Given the description of an element on the screen output the (x, y) to click on. 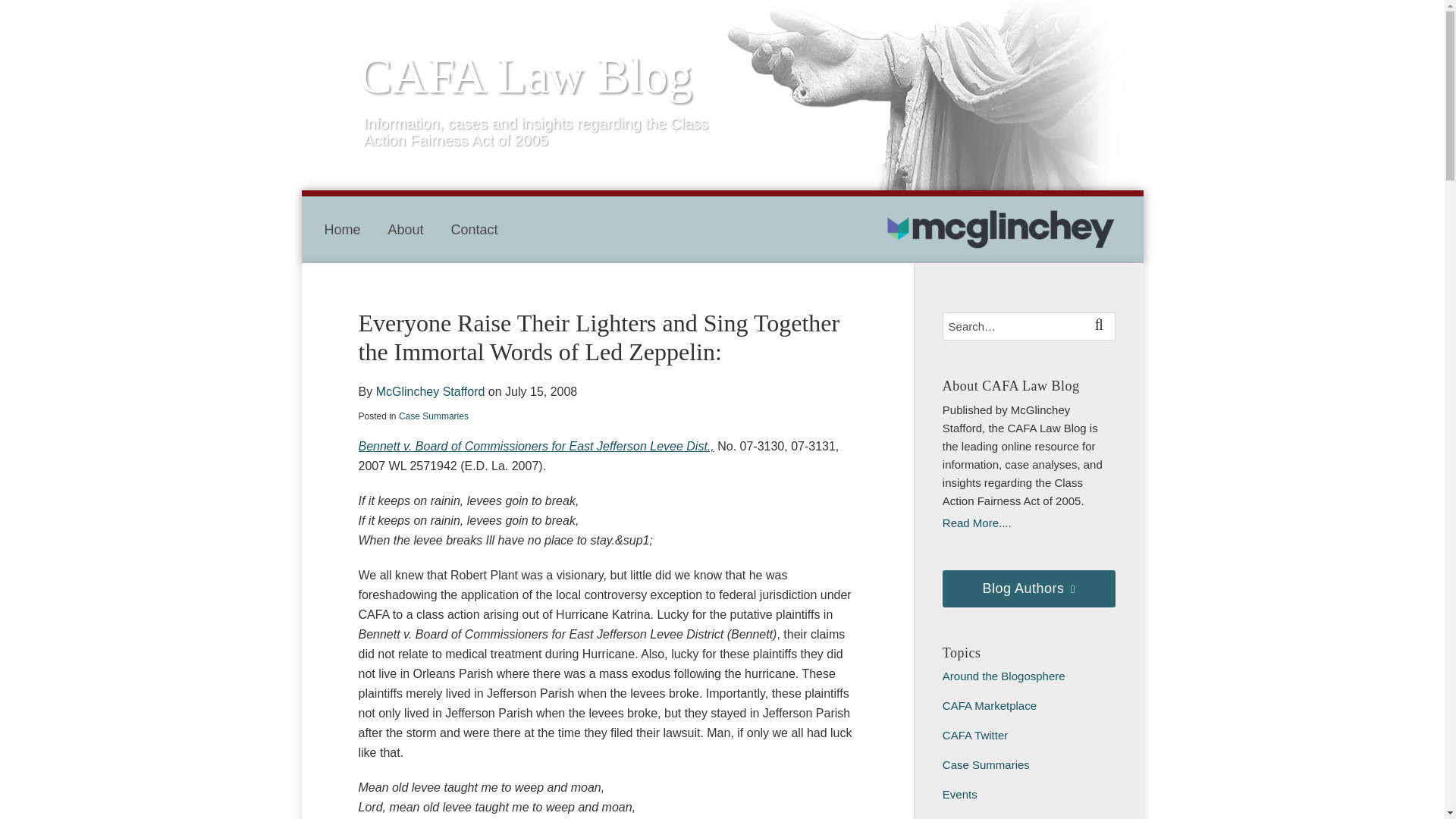
About (405, 229)
SEARCH (1101, 325)
Home (342, 229)
Contact (474, 229)
Case Summaries (433, 416)
CAFA Law Blog (526, 75)
McGlinchey Stafford (429, 391)
Read More.... (1028, 523)
